Given the description of an element on the screen output the (x, y) to click on. 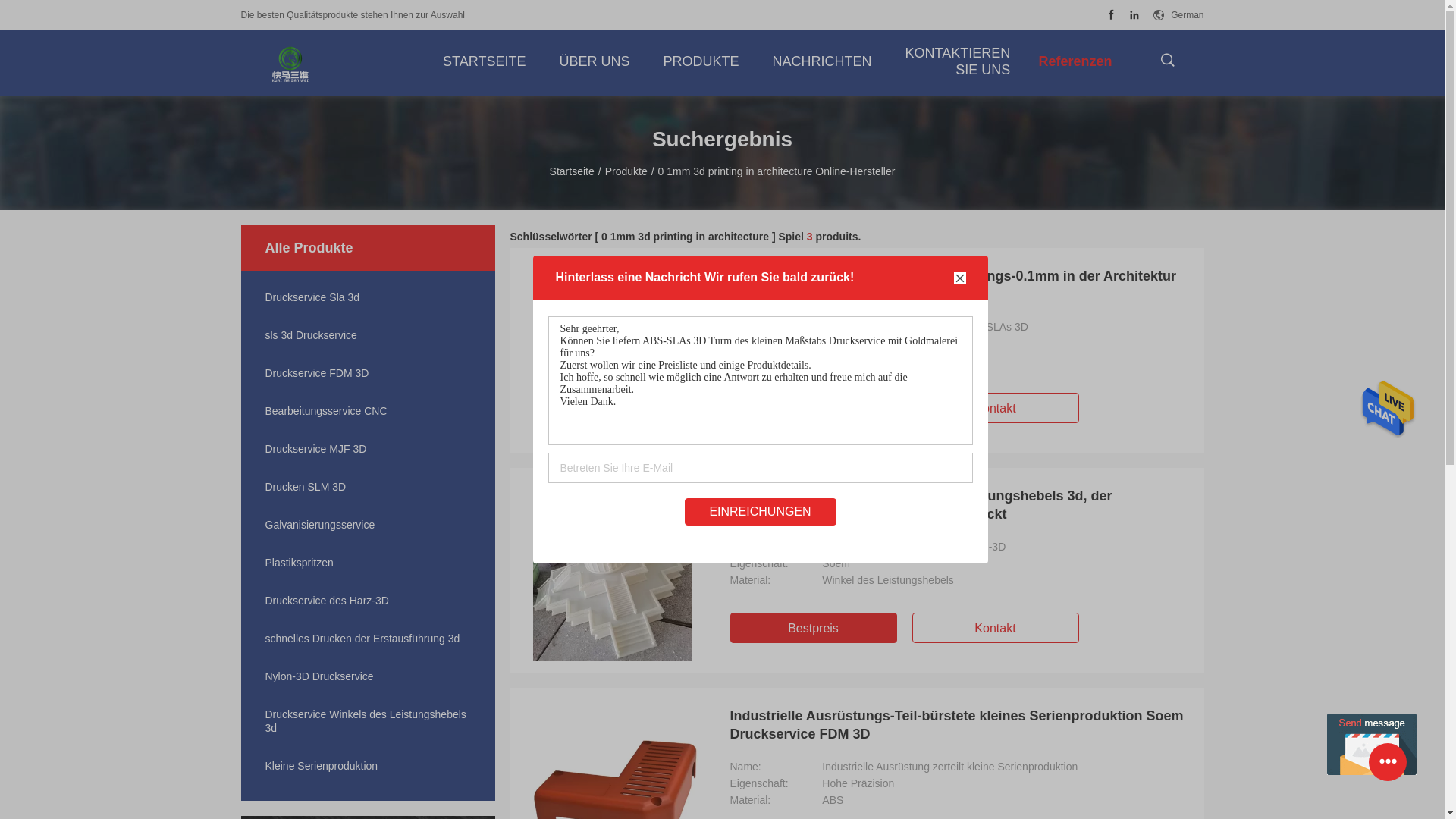
Bestpreis Element type: text (812, 407)
KONTAKTIEREN SIE UNS Element type: text (954, 60)
Referenzen Element type: text (1074, 60)
Guangdong Kuaima Sanwei Technology Co., Ltd. Element type: hover (290, 63)
Drucken SLM 3D Element type: text (368, 486)
Guangdong Kuaima Sanwei Technology Co., Ltd. Facebook Element type: hover (1111, 15)
NACHRICHTEN Element type: text (821, 60)
Druckservice Sla 3d Element type: text (368, 297)
Druckservice des Harz-3D Element type: text (368, 600)
Plastikspritzen Element type: text (368, 562)
Kontakt Element type: text (994, 627)
Druckservice Winkels des Leistungshebels 3d Element type: text (368, 720)
Nylon-3D Druckservice Element type: text (368, 676)
Kontakt Element type: text (994, 407)
sls 3d Druckservice Element type: text (368, 335)
Kleine Serienproduktion Element type: text (368, 765)
Druckservice MJF 3D Element type: text (368, 448)
Galvanisierungsservice Element type: text (368, 524)
Druckservice FDM 3D Element type: text (368, 372)
PRODUKTE Element type: text (700, 60)
Bestpreis Element type: text (812, 627)
STARTSEITE Element type: text (483, 60)
Bearbeitungsservice CNC Element type: text (368, 410)
Produkte Element type: text (626, 171)
Startseite Element type: text (571, 171)
Guangdong Kuaima Sanwei Technology Co., Ltd. LinkedIn Element type: hover (1134, 15)
